Given the description of an element on the screen output the (x, y) to click on. 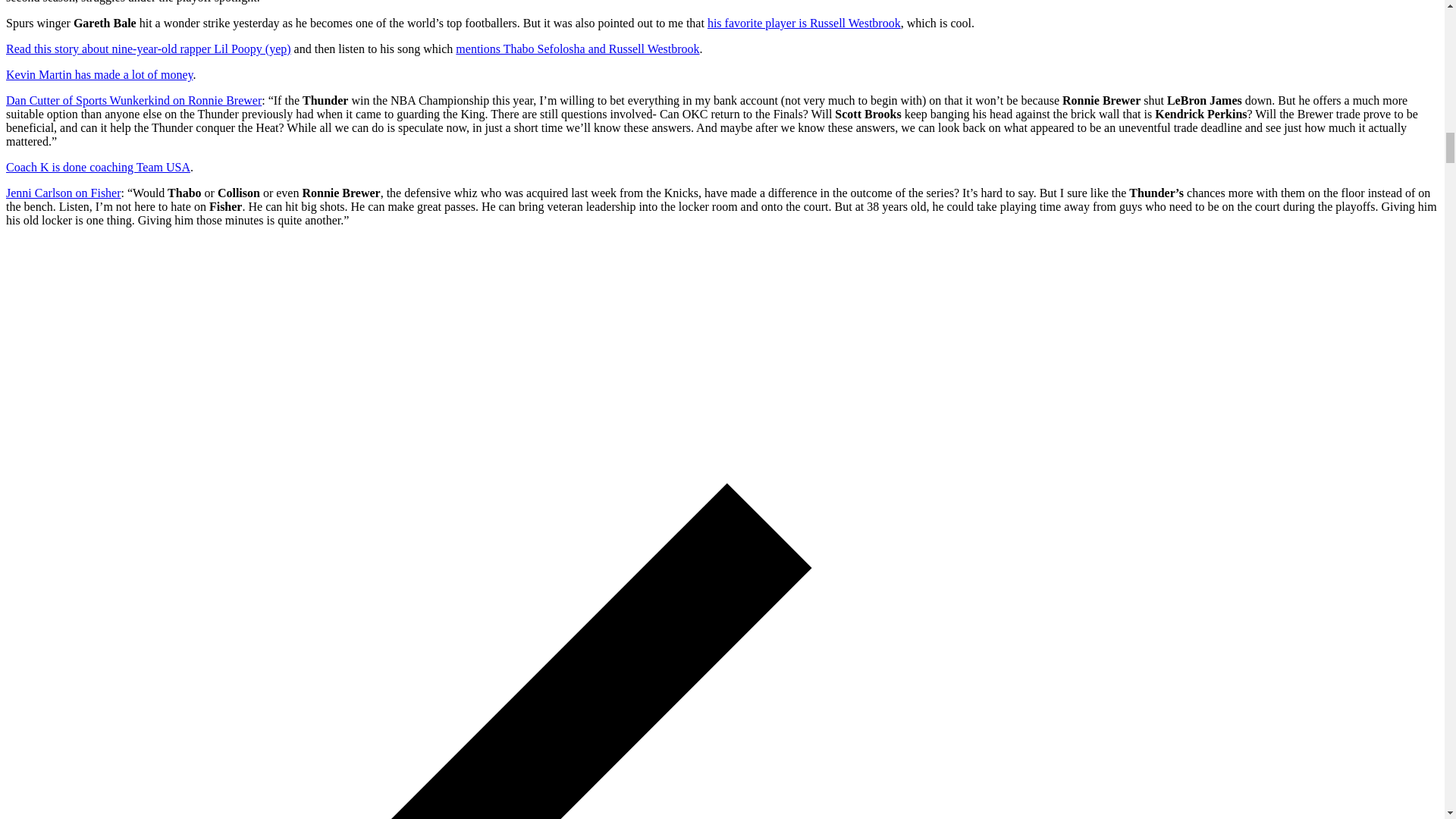
mentions Thabo Sefolosha and Russell Westbrook (576, 48)
Jenni Carlson on Fisher (62, 192)
Coach K is done coaching Team USA (97, 166)
Dan Cutter of Sports Wunkerkind on Ronnie Brewer (133, 100)
his favorite player is Russell Westbrook (804, 22)
Kevin Martin has made a lot of money (98, 74)
